Given the description of an element on the screen output the (x, y) to click on. 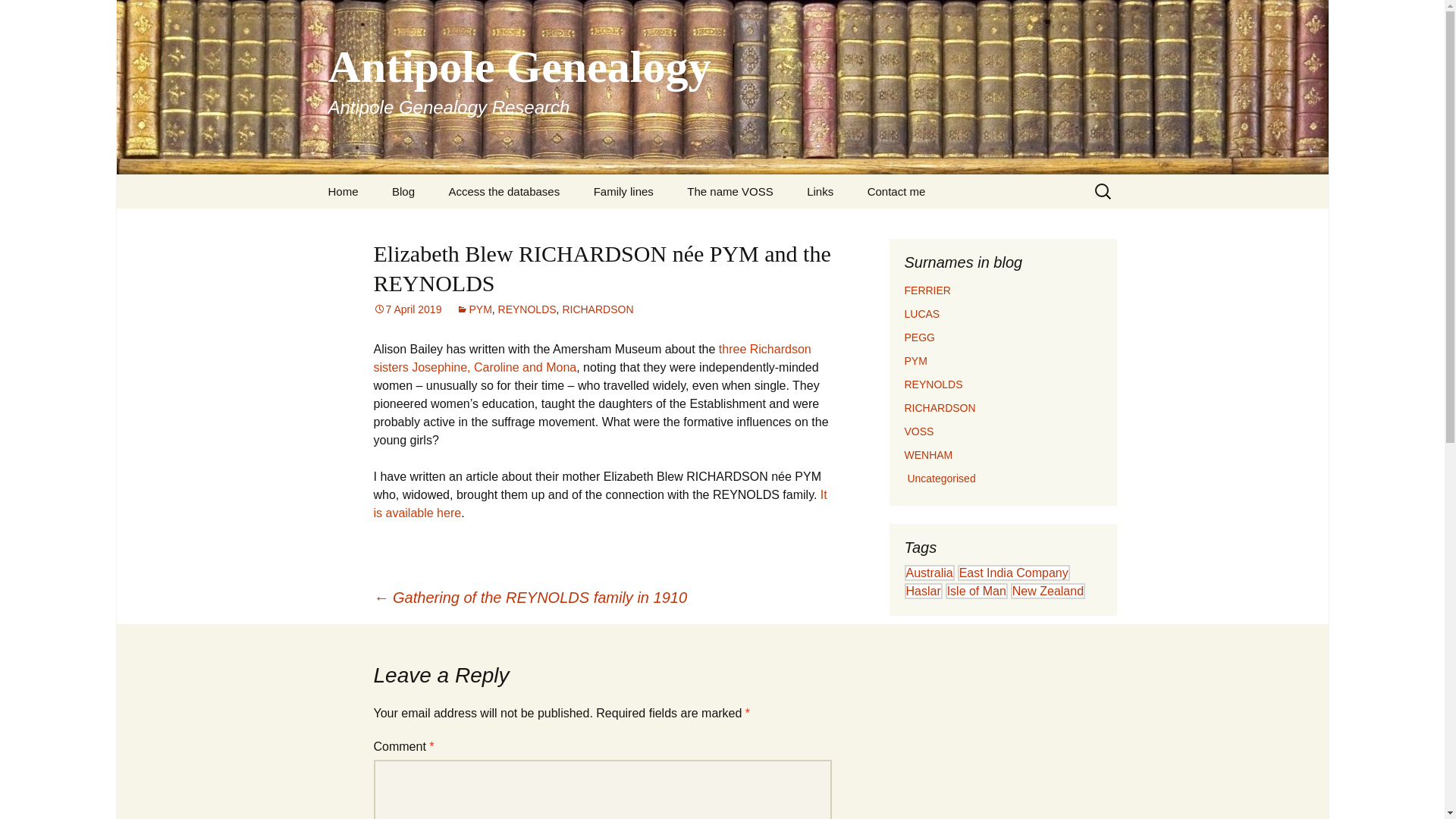
LUCAS (921, 313)
FERRIER (927, 290)
Home (342, 191)
It is available here (599, 503)
WENHAM (928, 454)
Search (18, 15)
PEGG (919, 337)
Contact me (895, 191)
Access the databases (503, 191)
three Richardson sisters Josephine, Caroline and Mona (591, 358)
Blog (403, 191)
RICHARDSON (597, 309)
VOSS (918, 431)
REYNOLDS (526, 309)
